Given the description of an element on the screen output the (x, y) to click on. 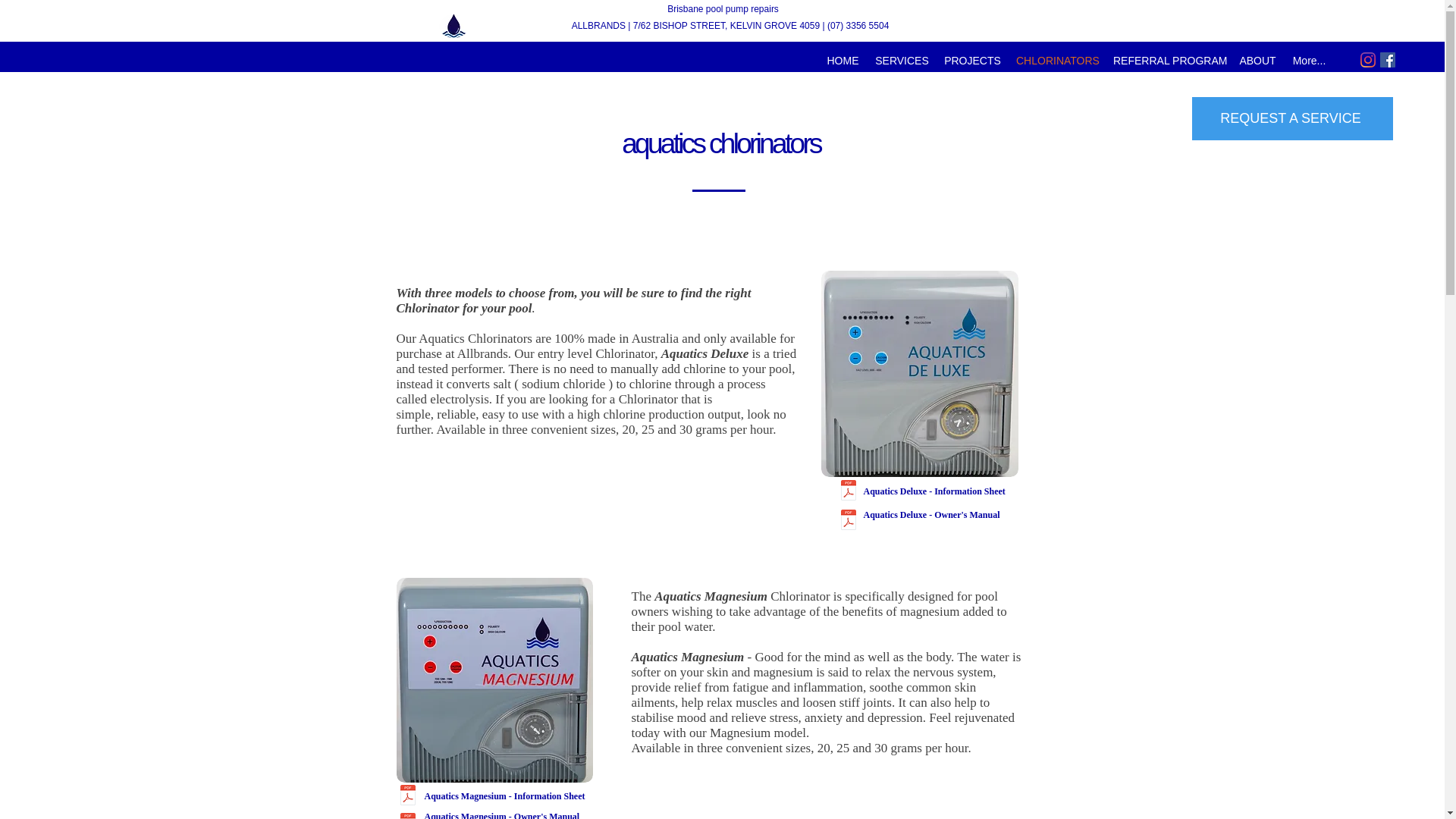
HOME (842, 60)
REQUEST A SERVICE (1292, 118)
ABOUT (1257, 60)
REFERRAL PROGRAM (1168, 60)
PROJECTS (972, 60)
SERVICES (901, 60)
CHLORINATORS (1057, 60)
AquaticsDeluxeManual.pdf (407, 808)
